Given the description of an element on the screen output the (x, y) to click on. 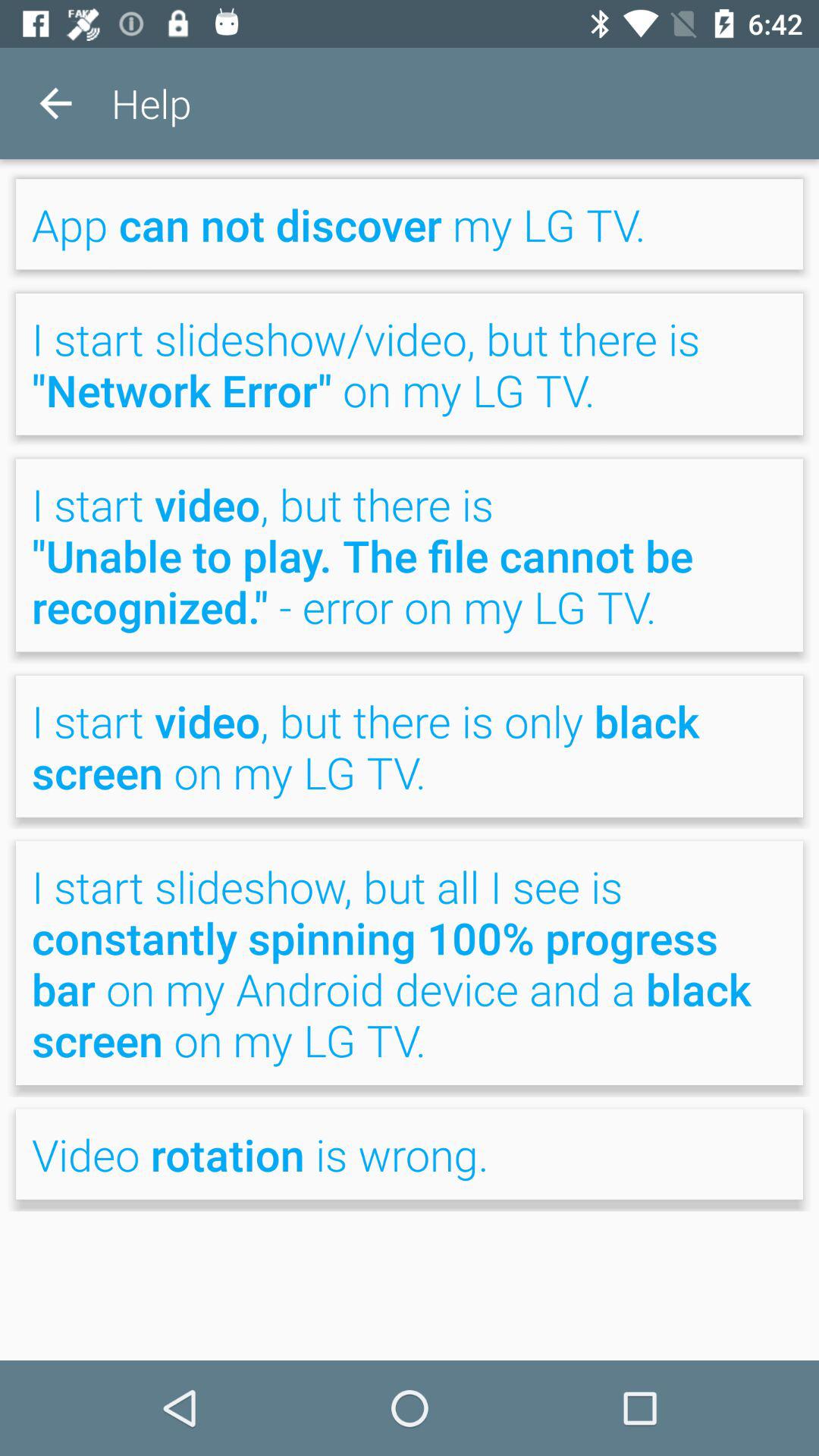
choose icon above the app can not icon (55, 103)
